Given the description of an element on the screen output the (x, y) to click on. 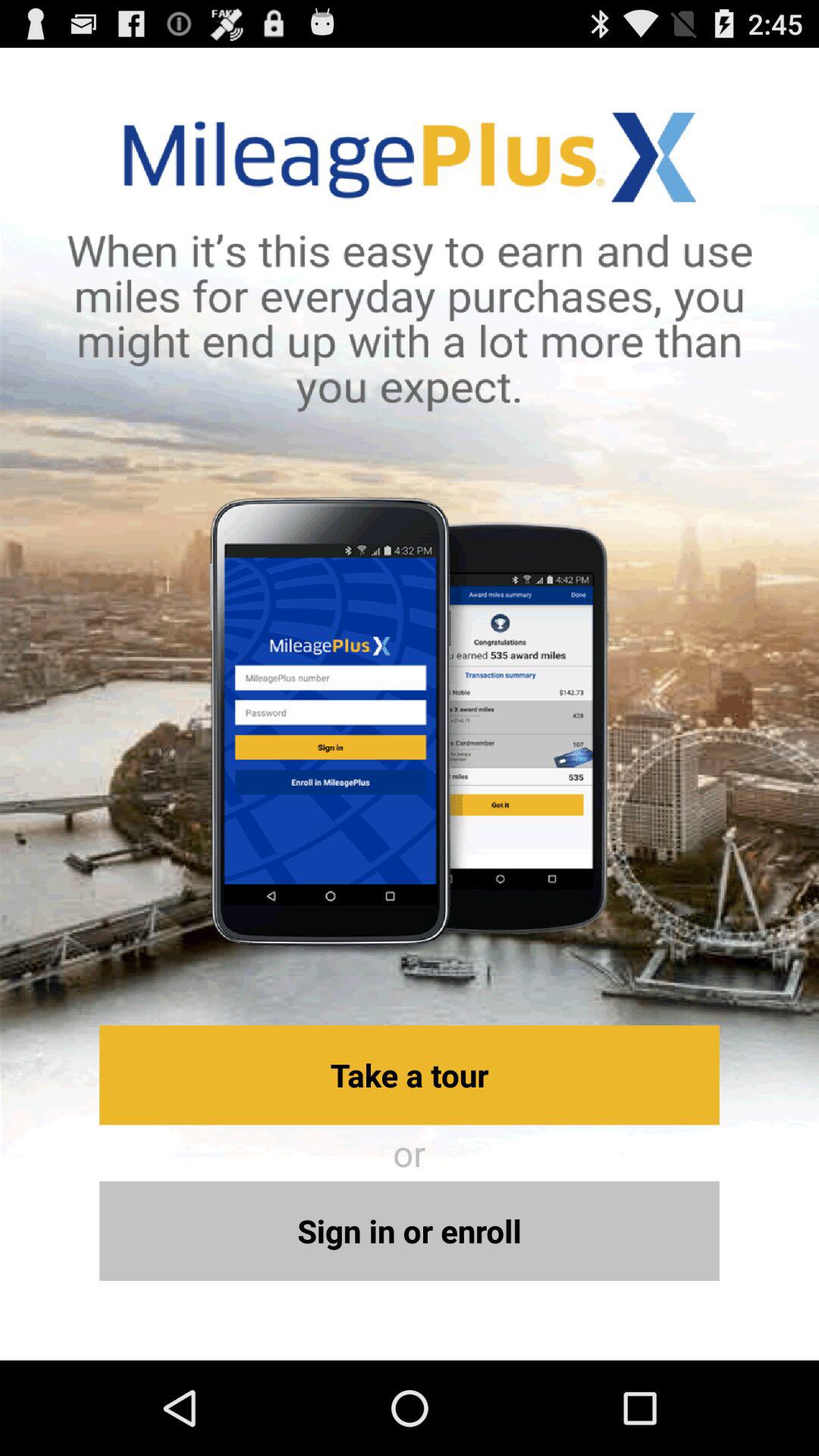
turn off sign in or (409, 1230)
